Given the description of an element on the screen output the (x, y) to click on. 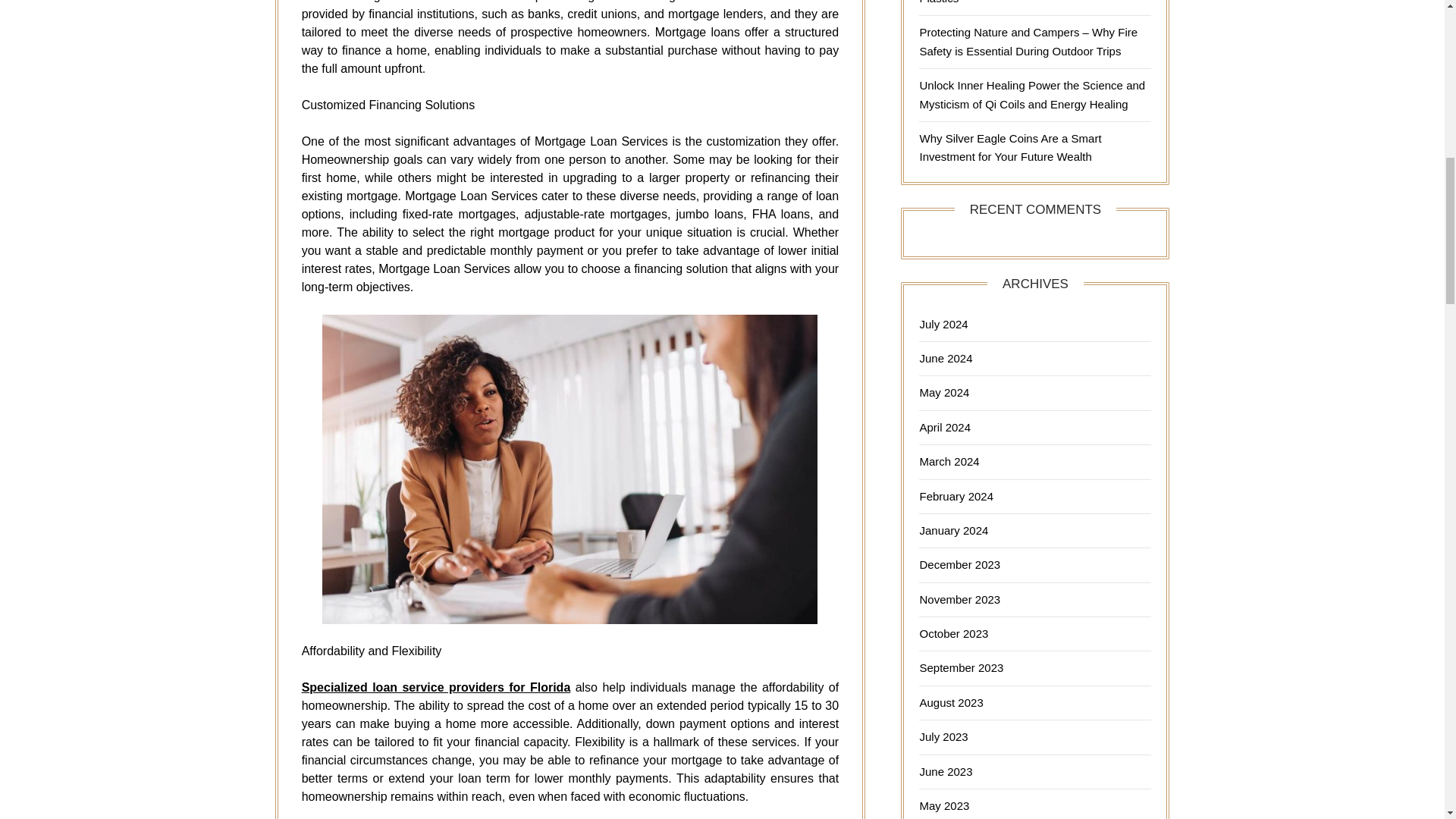
September 2023 (960, 667)
November 2023 (959, 599)
March 2024 (948, 461)
July 2024 (943, 323)
December 2023 (959, 563)
August 2023 (950, 702)
May 2023 (943, 805)
April 2024 (944, 427)
Specialized loan service providers for Florida (435, 686)
June 2024 (945, 358)
July 2023 (943, 736)
May 2024 (943, 391)
January 2024 (953, 530)
October 2023 (953, 633)
